Given the description of an element on the screen output the (x, y) to click on. 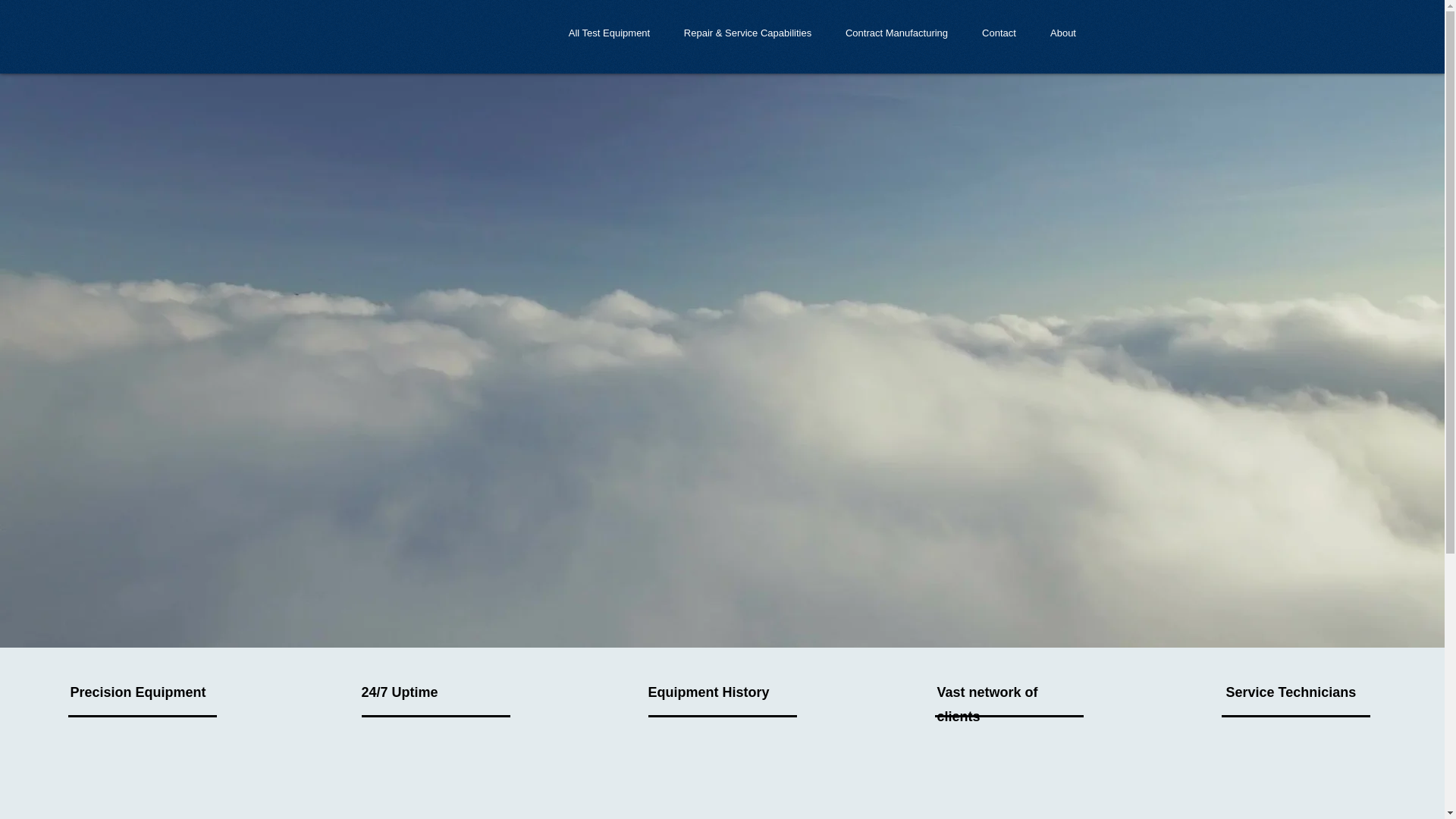
Contact (997, 33)
About (1062, 33)
Contract Manufacturing (895, 33)
All Test Equipment (608, 33)
